Given the description of an element on the screen output the (x, y) to click on. 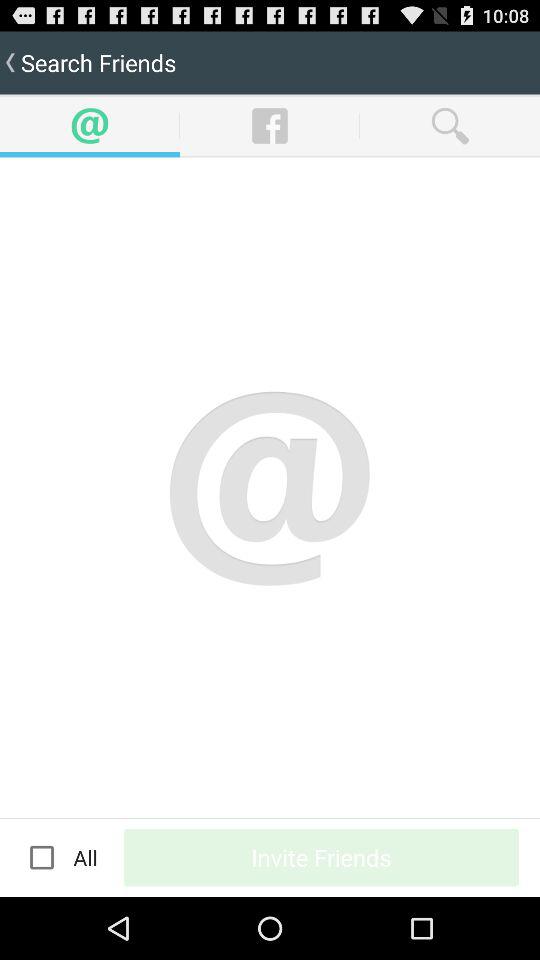
turn off button at the bottom (321, 857)
